Given the description of an element on the screen output the (x, y) to click on. 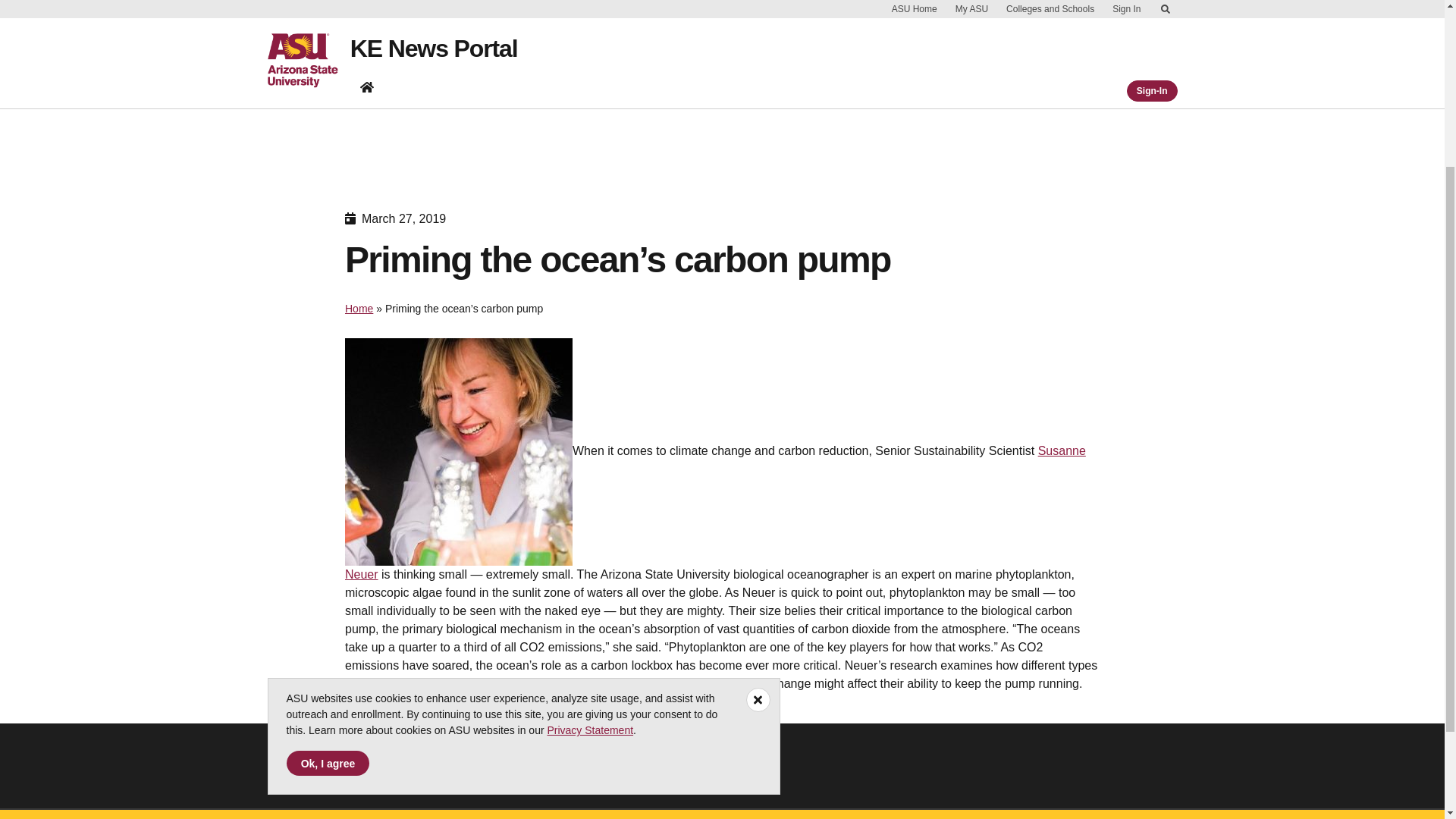
Privacy Statement (590, 503)
Read more about Neuer's research (439, 701)
Susanne Neuer (715, 512)
Ok, I agree (327, 536)
Home (358, 308)
